Given the description of an element on the screen output the (x, y) to click on. 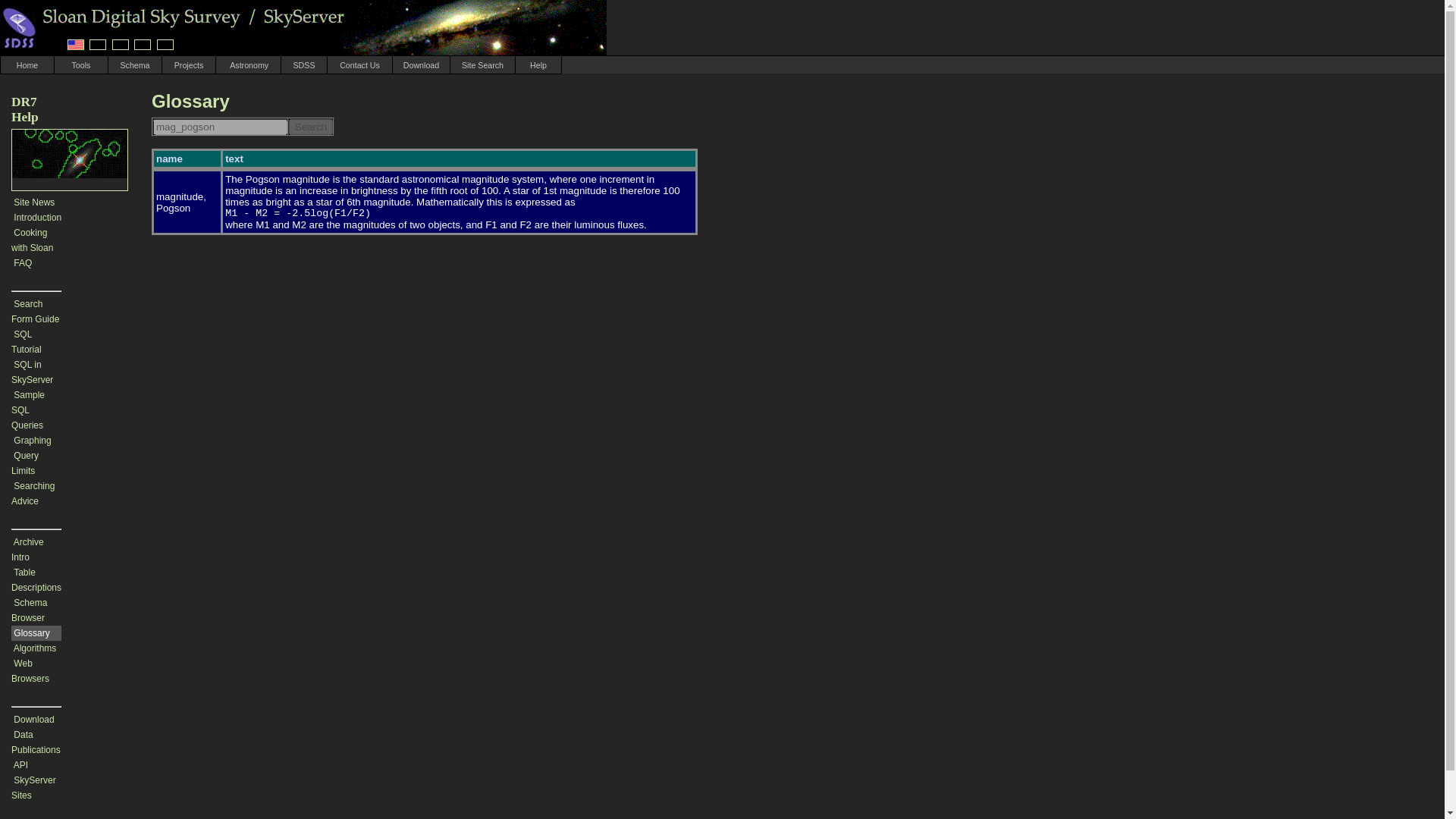
 Schema  (134, 64)
 Site Search  (482, 64)
Web Browsers (30, 670)
  Download   (421, 64)
Table Descriptions (36, 579)
Algorithms (34, 647)
DR7 Help (25, 109)
Introduction (37, 217)
  Help   (538, 64)
SQL Tutorial (26, 341)
